Given the description of an element on the screen output the (x, y) to click on. 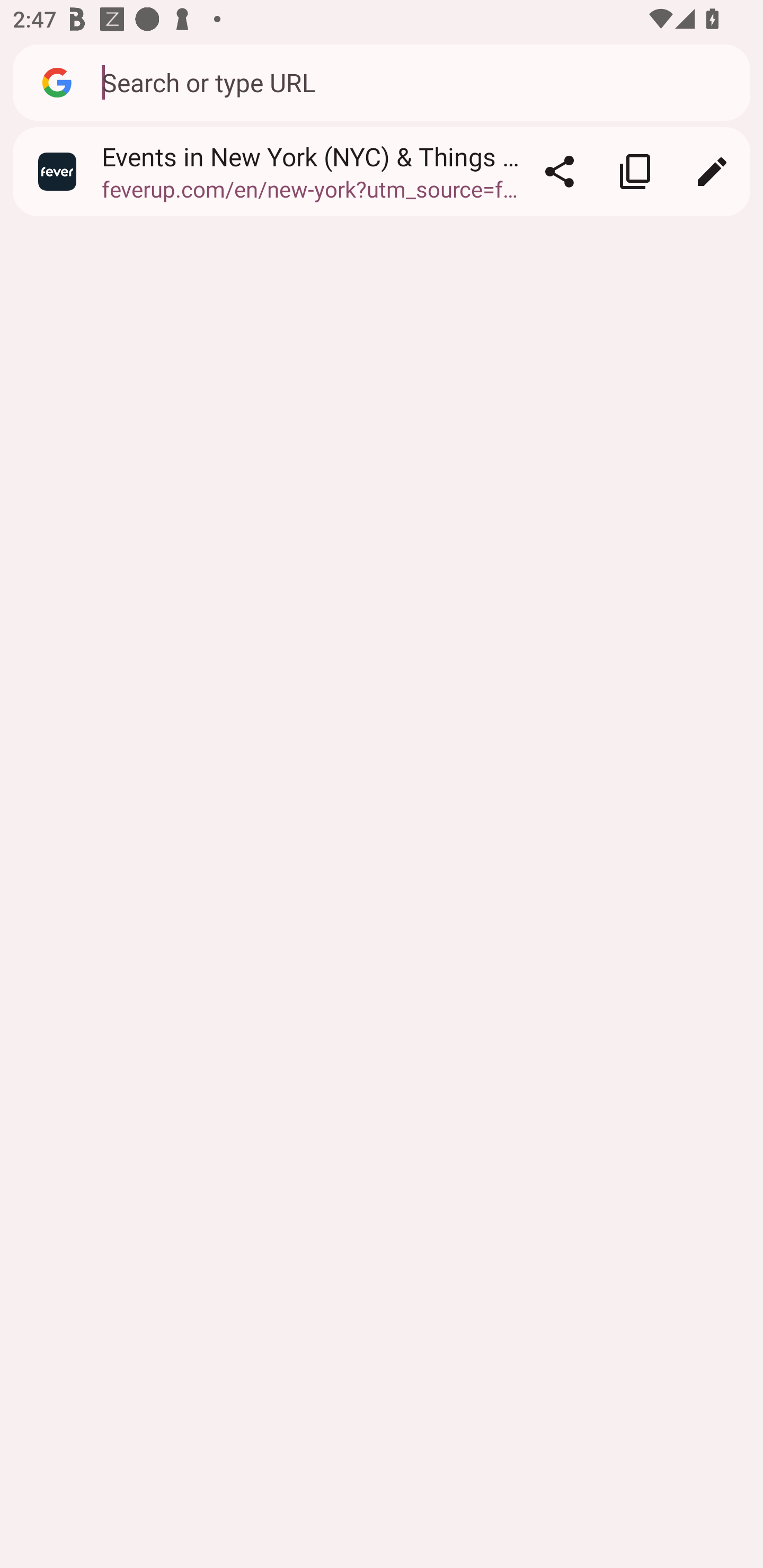
Search or type URL (415, 82)
Share… (559, 171)
Copy link (635, 171)
Edit (711, 171)
